Given the description of an element on the screen output the (x, y) to click on. 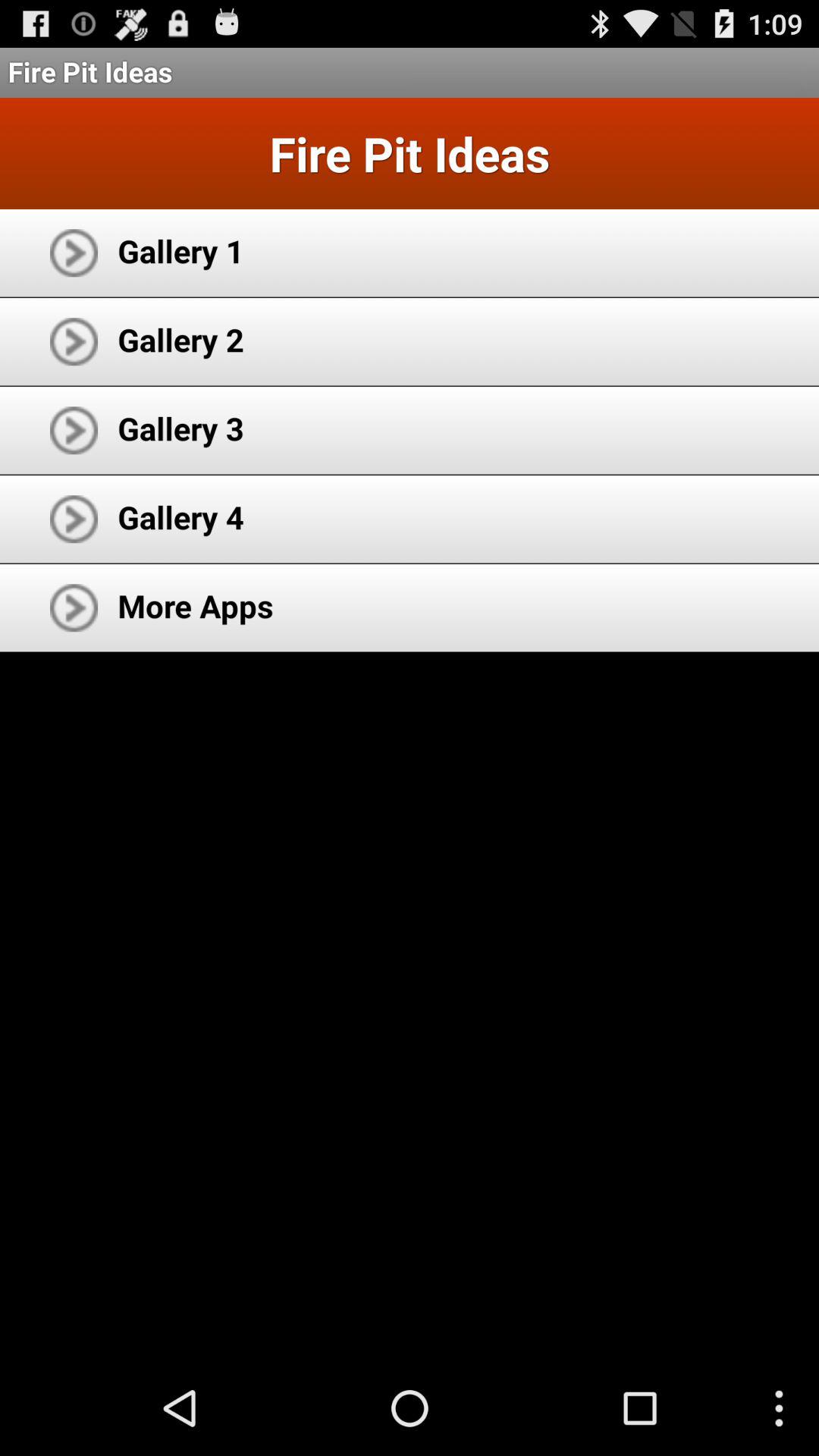
open icon below the fire pit ideas icon (180, 250)
